Given the description of an element on the screen output the (x, y) to click on. 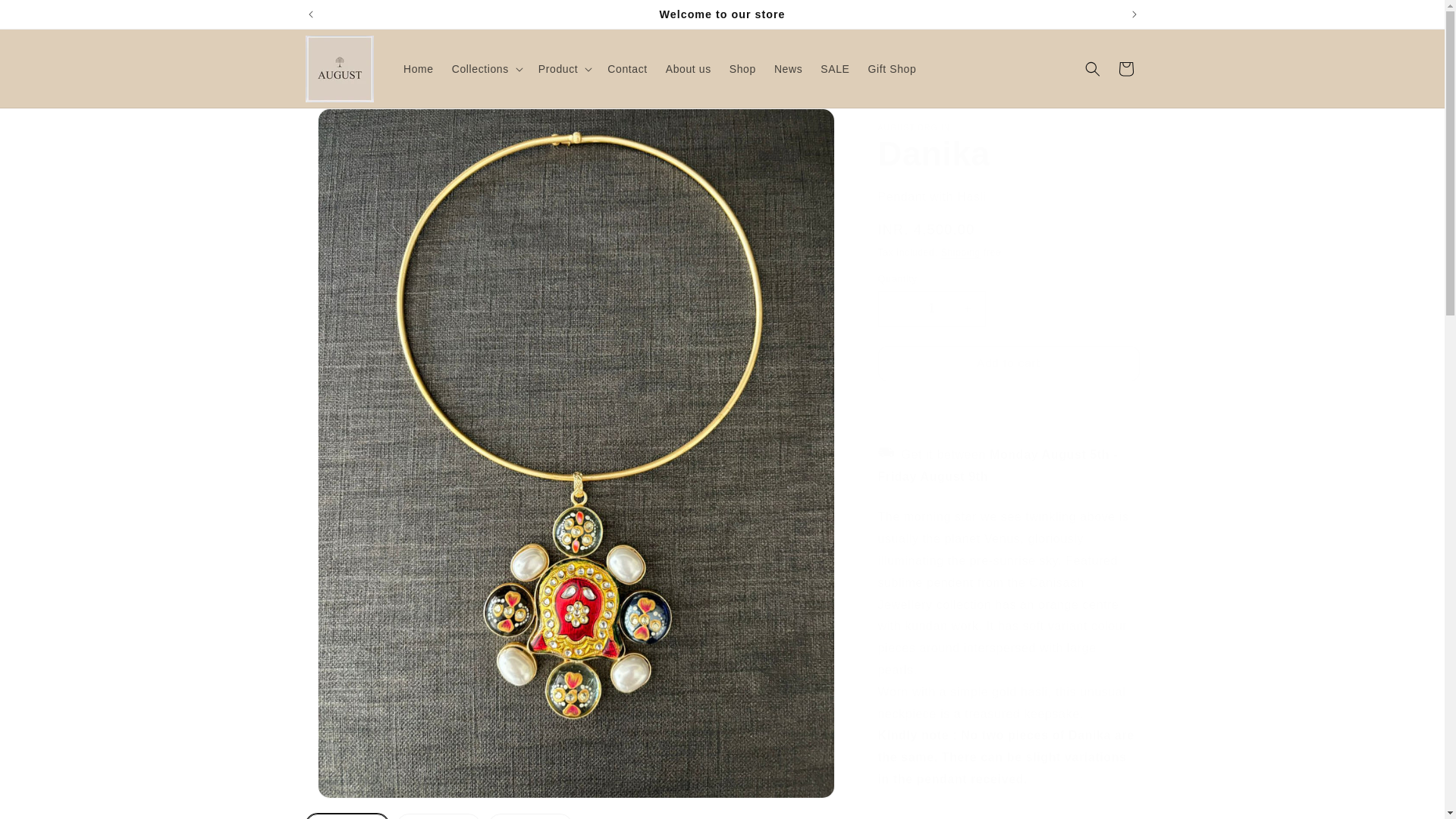
1 (931, 308)
Skip to content (45, 17)
